Given the description of an element on the screen output the (x, y) to click on. 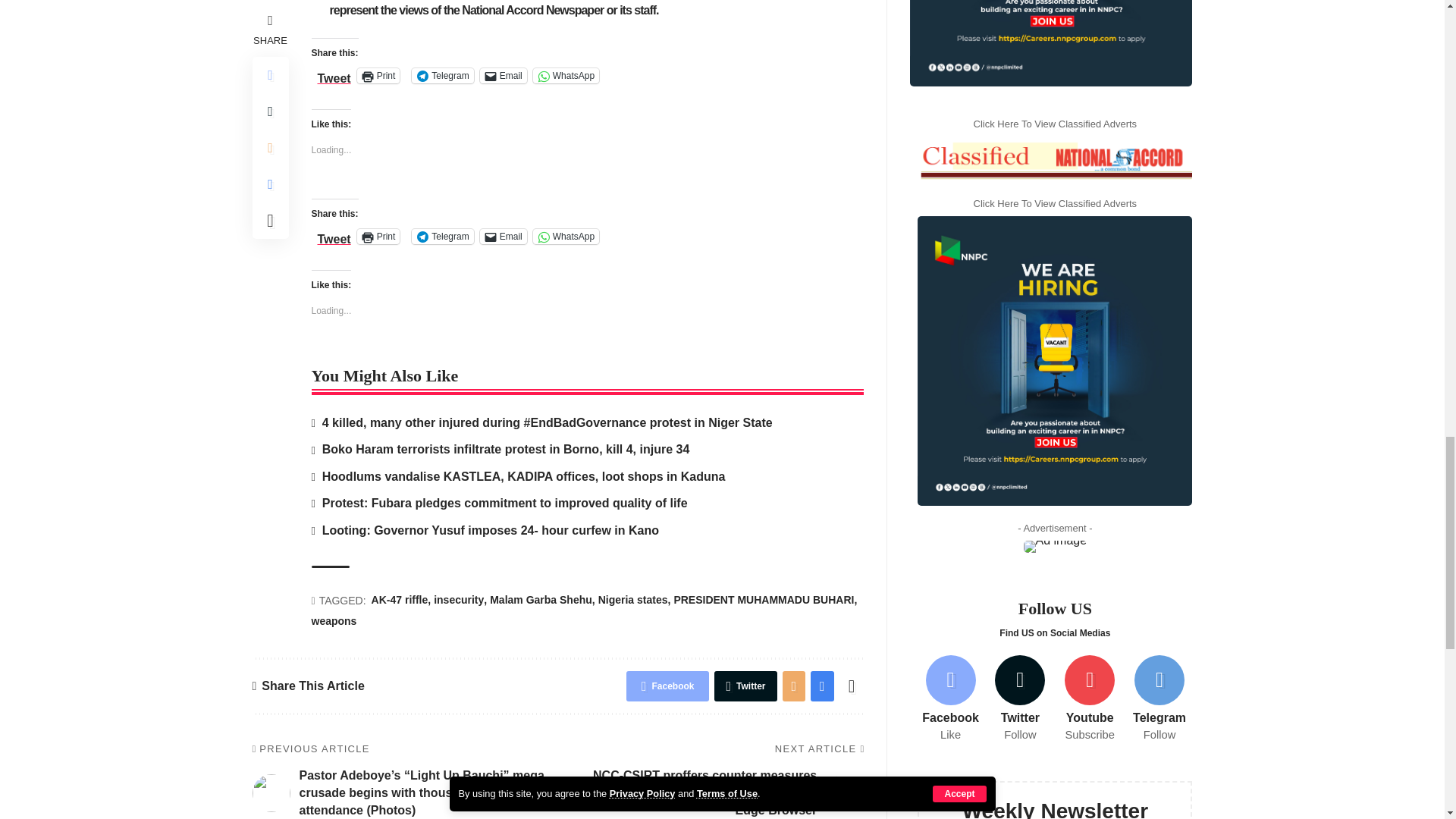
Click to share on WhatsApp (565, 75)
Click to share on WhatsApp (565, 236)
Click to email a link to a friend (503, 75)
Click to share on Telegram (442, 75)
Click to print (378, 236)
Click to share on Telegram (442, 236)
Click to email a link to a friend (503, 236)
Click to print (378, 75)
